Given the description of an element on the screen output the (x, y) to click on. 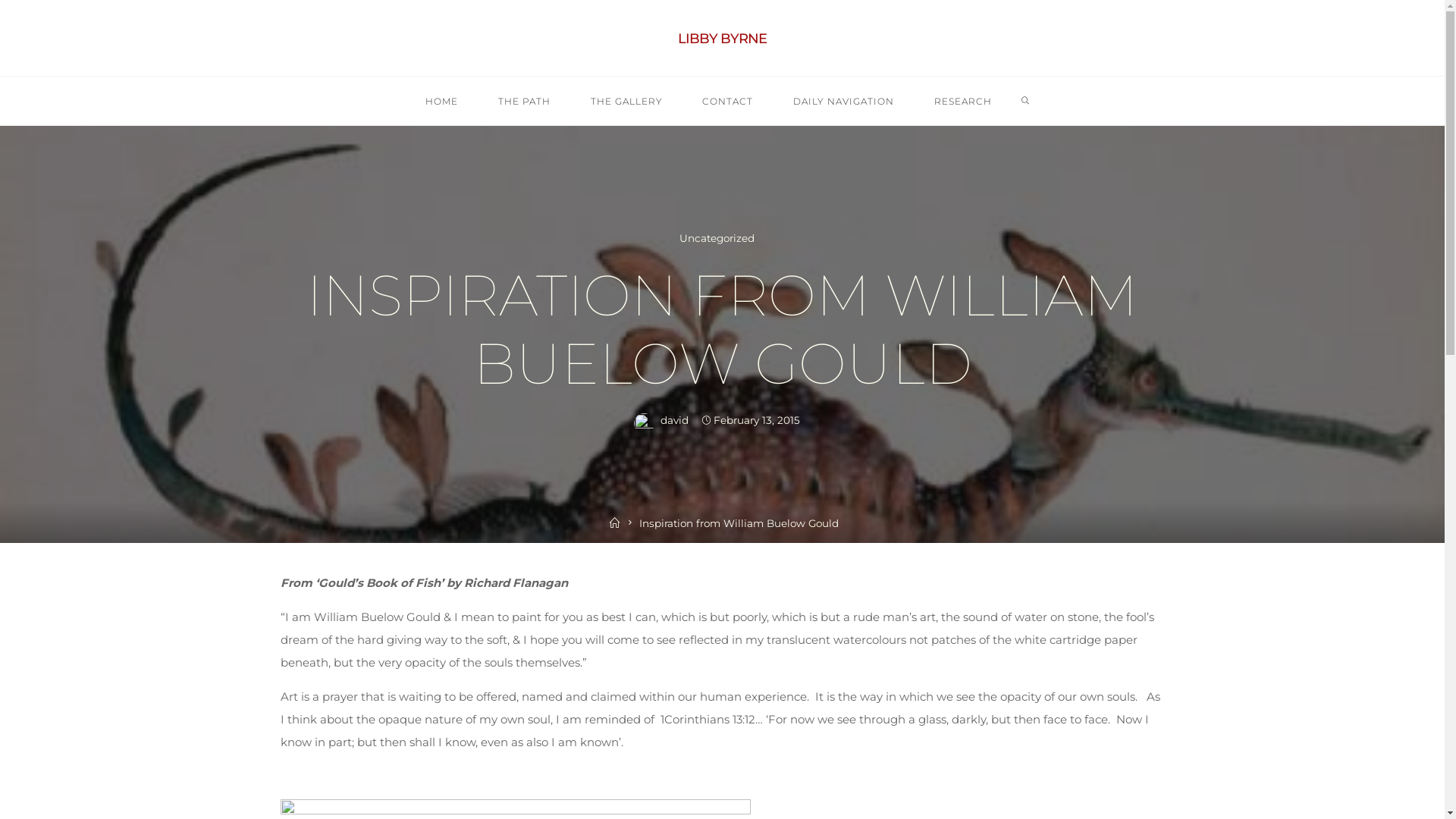
THE PATH Element type: text (523, 100)
DAILY NAVIGATION Element type: text (843, 100)
HOME Element type: text (441, 100)
LIBBY BYRNE Element type: text (721, 38)
THE GALLERY Element type: text (626, 100)
Home Element type: text (614, 523)
SEARCH Element type: text (1025, 100)
RESEARCH Element type: text (963, 100)
Date Element type: hover (706, 420)
david Element type: text (672, 420)
CONTACT Element type: text (727, 100)
